Given the description of an element on the screen output the (x, y) to click on. 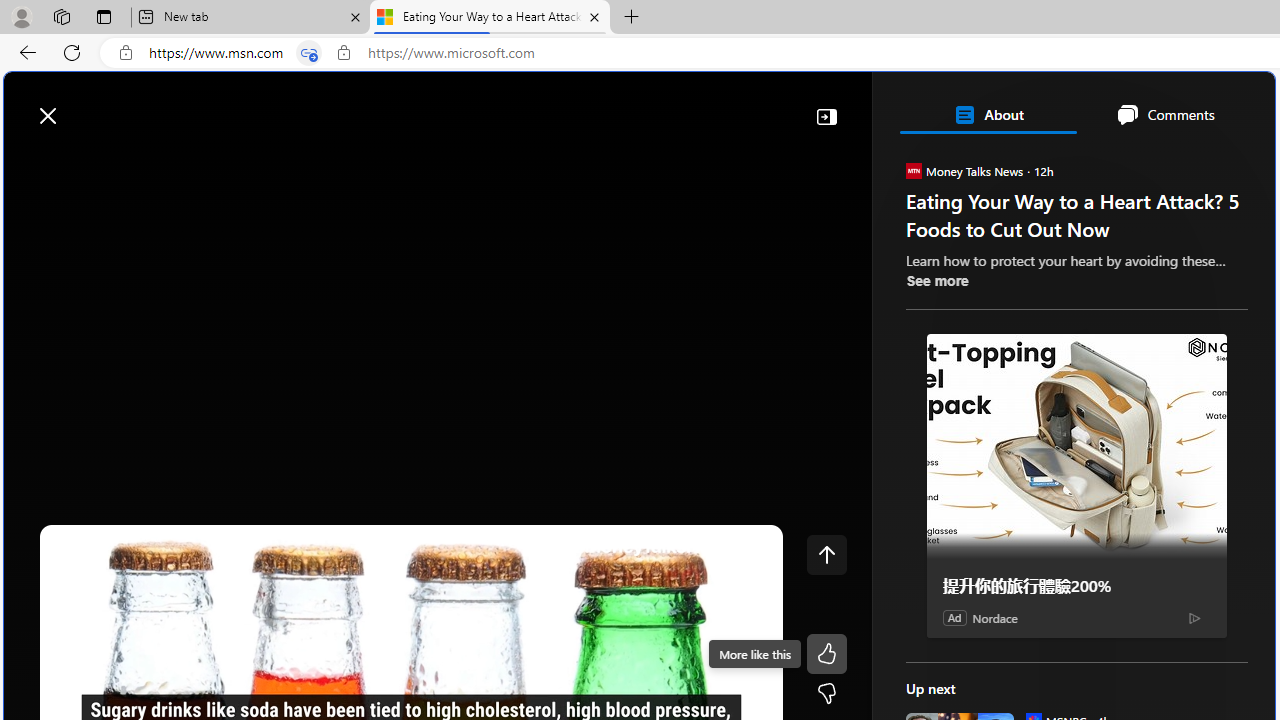
Open settings (1230, 105)
Eating Your Way to a Heart Attack? 5 Foods to Cut Out Now (490, 17)
Money Talks News (912, 170)
Like (826, 653)
Collapse (826, 115)
Personalized for You (1084, 288)
